Given the description of an element on the screen output the (x, y) to click on. 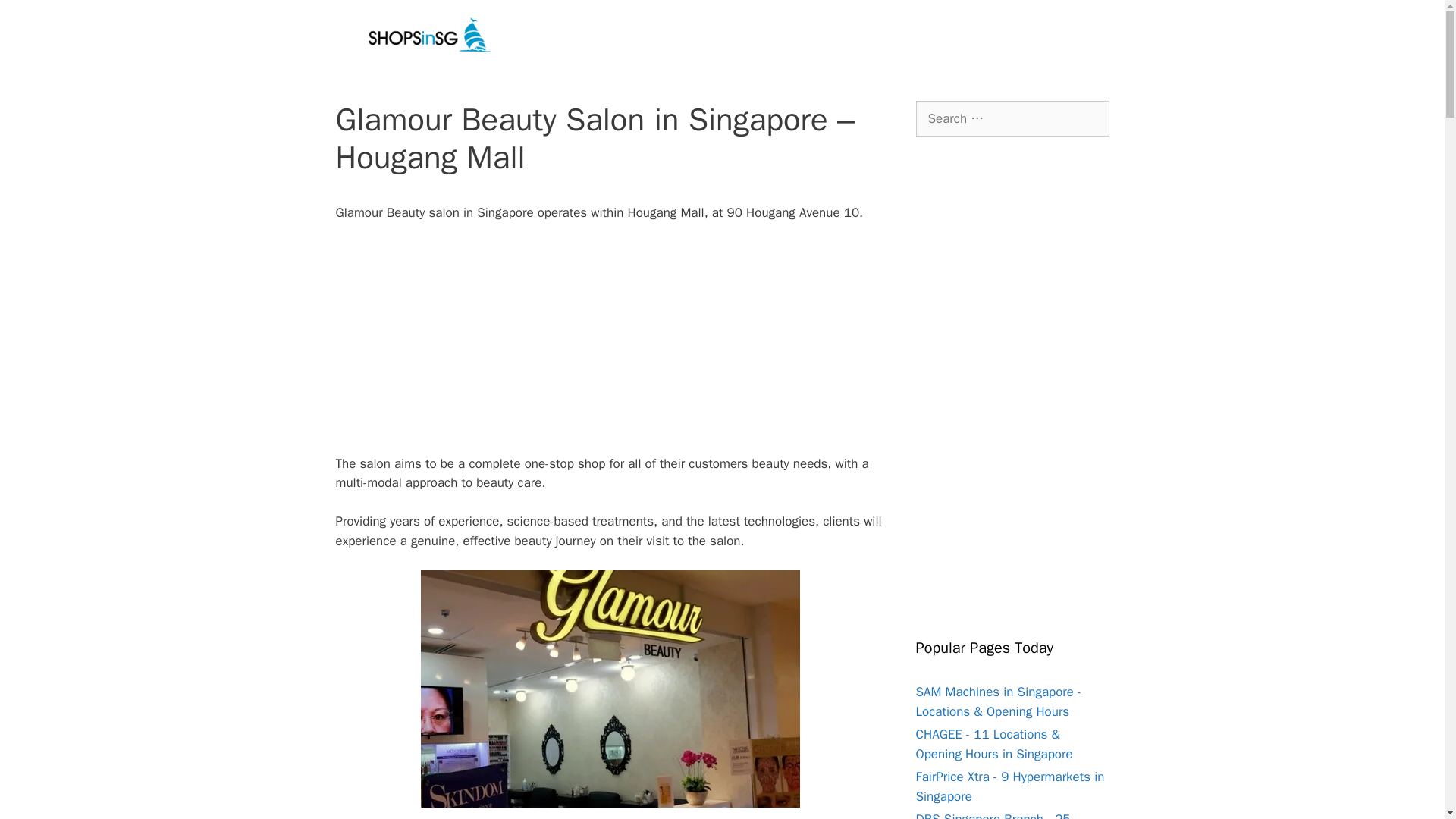
Advertisement (1012, 386)
Advertisement (609, 347)
Search (35, 18)
FairPrice Xtra - 9 Hypermarkets in Singapore (1010, 786)
Search for: (1012, 118)
